Given the description of an element on the screen output the (x, y) to click on. 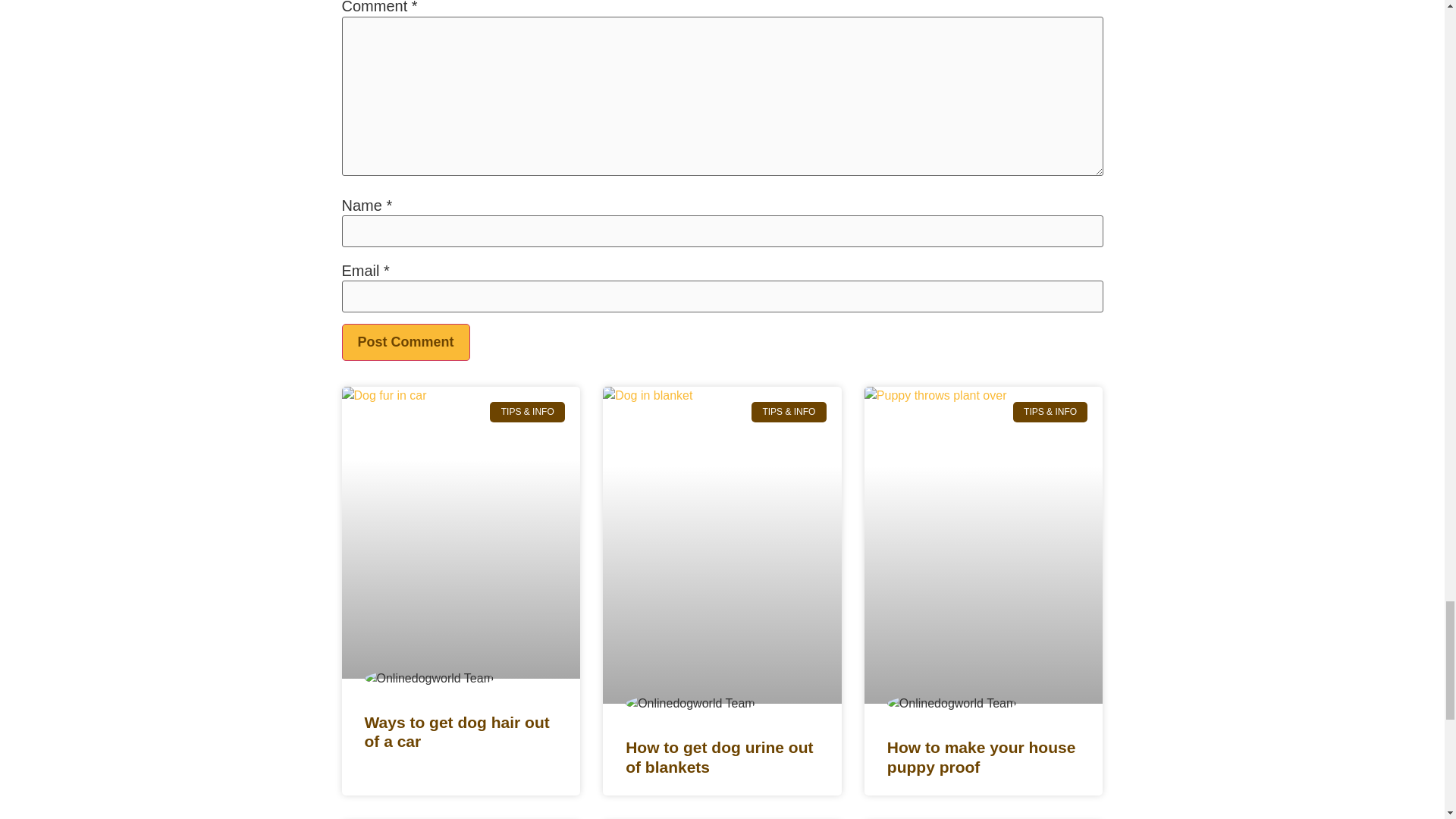
Ways to get dog hair out of a car   (456, 731)
Post Comment (404, 342)
How to get dog urine out of blankets  (719, 756)
How to make your house puppy proof  (980, 756)
Post Comment (404, 342)
